Given the description of an element on the screen output the (x, y) to click on. 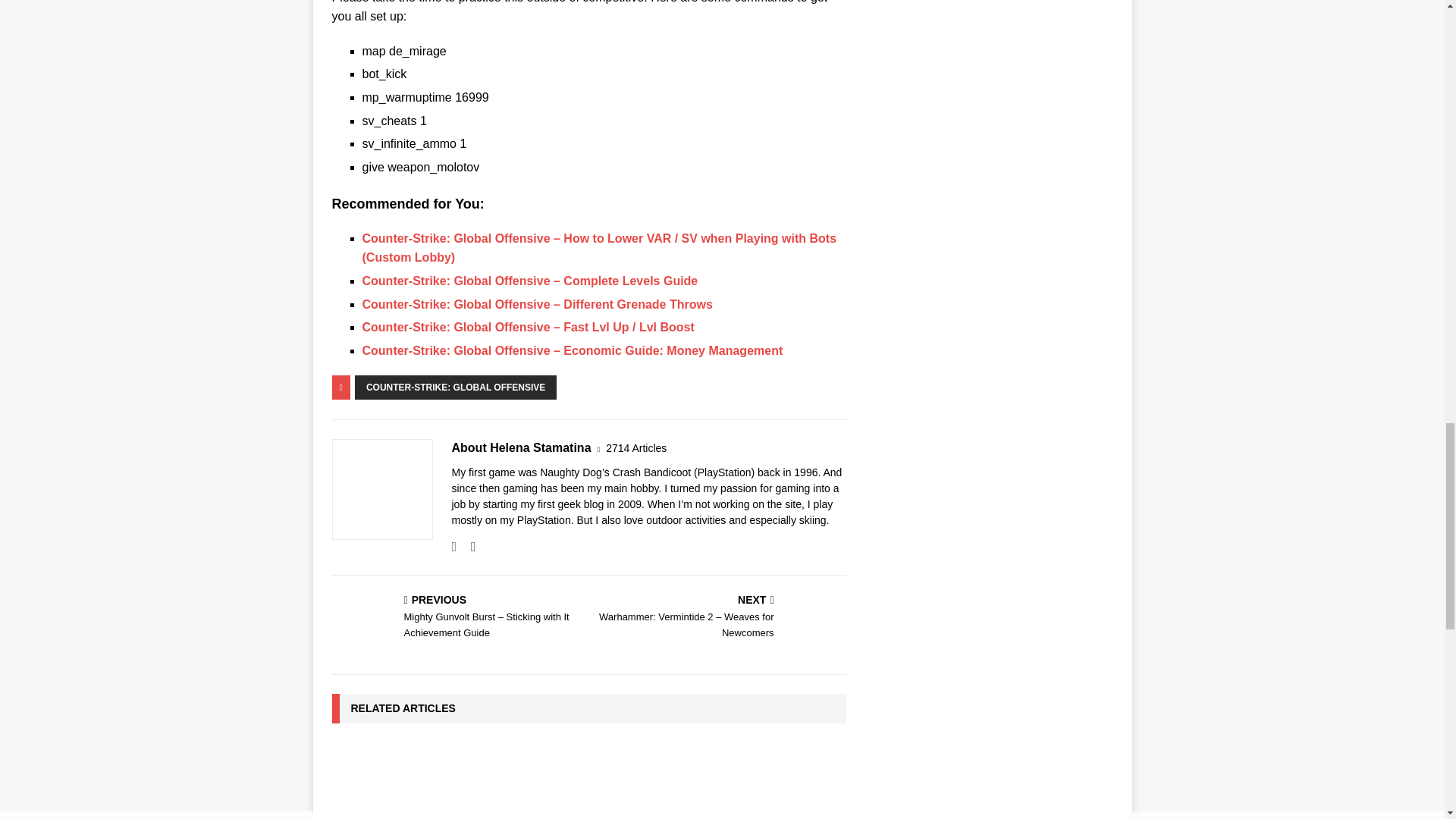
2714 Articles (635, 448)
Visit the website of Helena Stamatina (454, 546)
More articles written by Helena Stamatina' (635, 448)
Follow Helena Stamatina on Twitter (468, 546)
COUNTER-STRIKE: GLOBAL OFFENSIVE (455, 387)
